Given the description of an element on the screen output the (x, y) to click on. 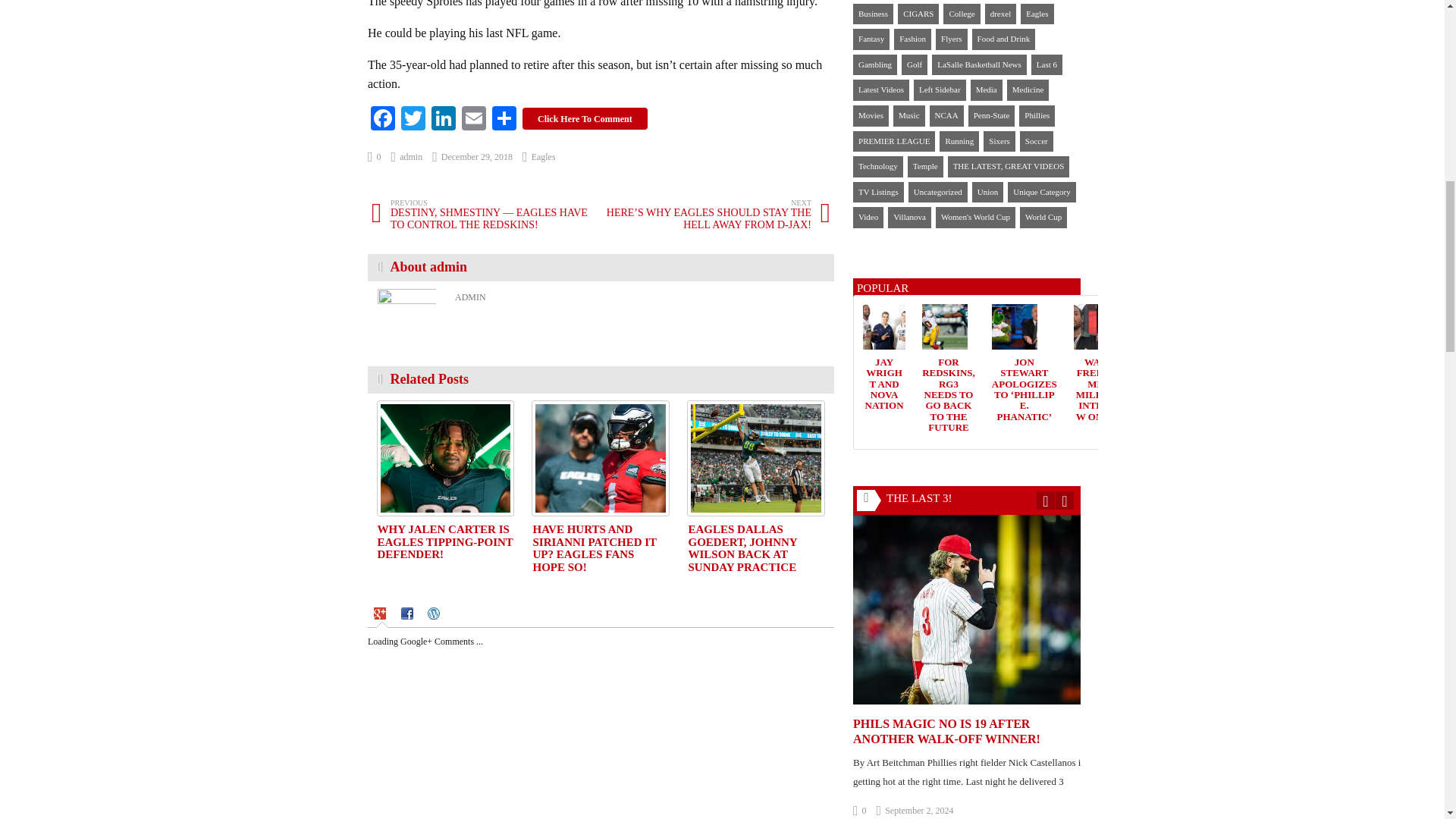
WHY JALEN CARTER IS EAGLES TIPPING-POINT DEFENDER! (445, 458)
Posts by admin (407, 156)
Twitter (412, 120)
Facebook (382, 120)
WHY JALEN CARTER IS EAGLES TIPPING-POINT DEFENDER! (445, 541)
EAGLES DALLAS GOEDERT, JOHNNY WILSON BACK AT SUNDAY PRACTICE (755, 458)
Twitter (412, 120)
WHY JALEN CARTER IS EAGLES TIPPING-POINT DEFENDER! (445, 541)
Eagles (543, 156)
Facebook (382, 120)
